Given the description of an element on the screen output the (x, y) to click on. 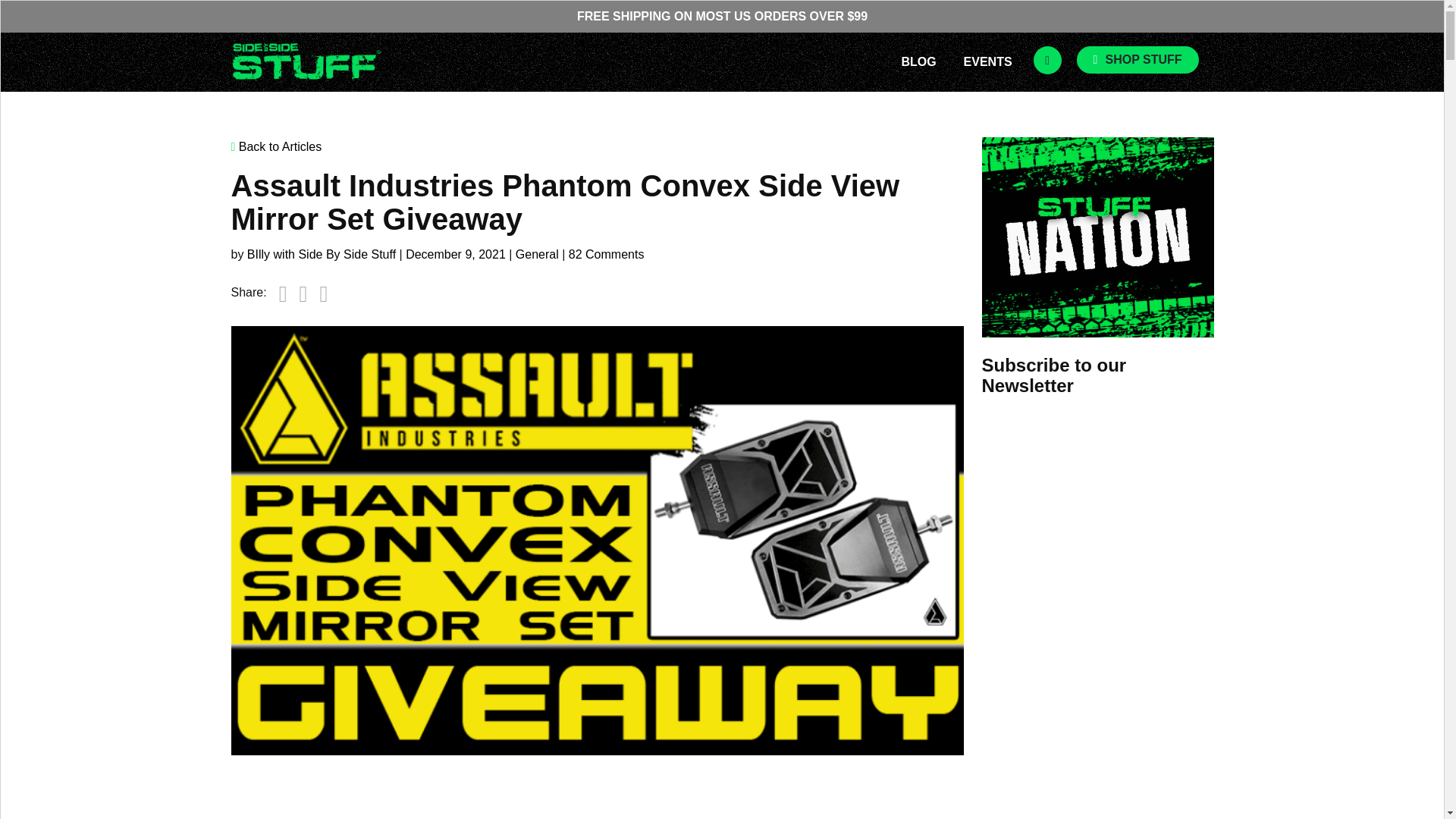
General (537, 254)
EVENTS (987, 61)
Assault Industries Phantom Convex Side View Mirrors Giveaway (473, 796)
SHOP STUFF (1137, 59)
Back to Articles (596, 147)
82 Comments (607, 254)
BIlly with Side By Side Stuff (321, 254)
December 9, 2021 (455, 254)
BLOG (918, 61)
